Given the description of an element on the screen output the (x, y) to click on. 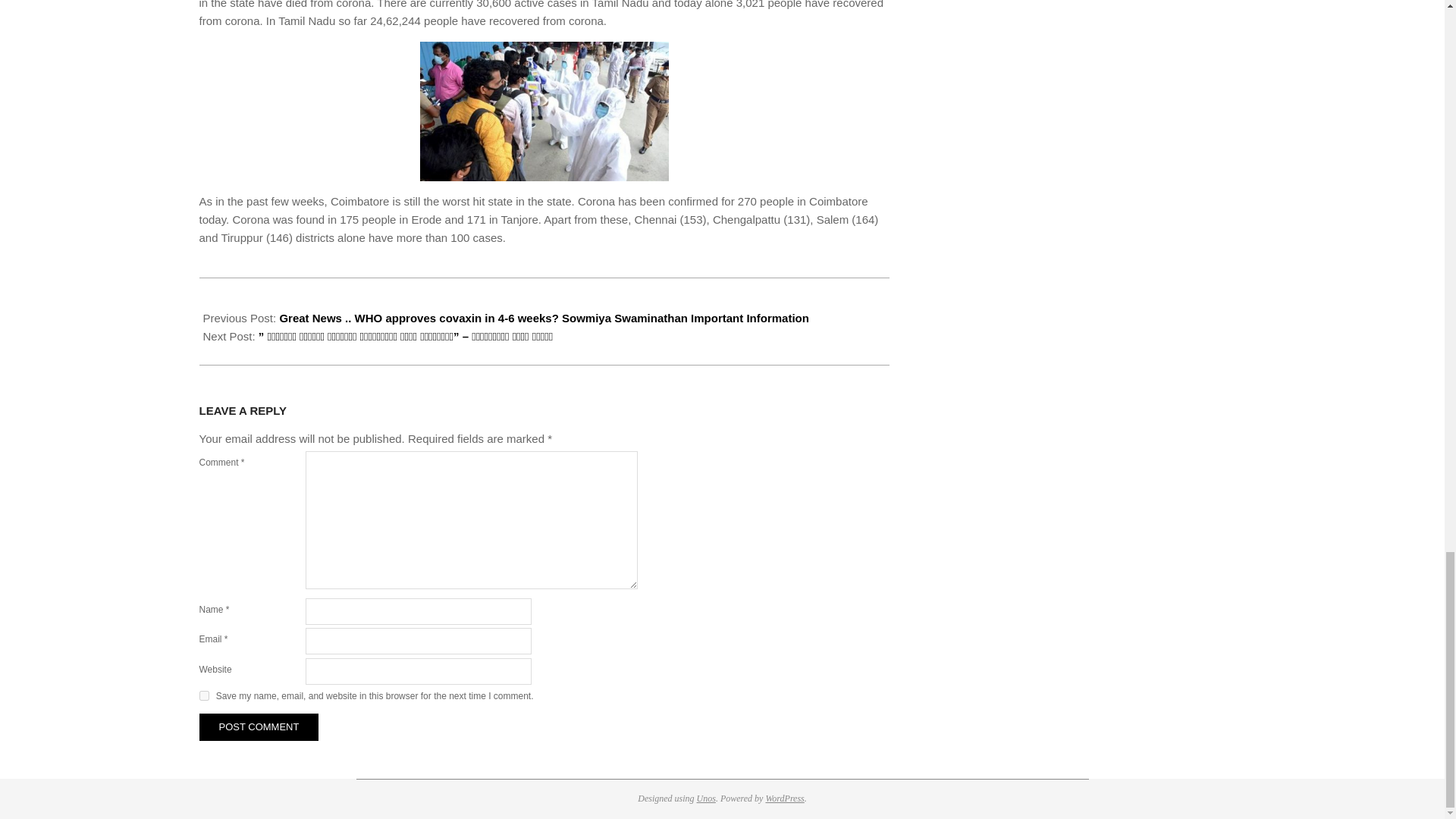
Post Comment (258, 727)
Unos WordPress Theme (706, 798)
yes (203, 696)
